Given the description of an element on the screen output the (x, y) to click on. 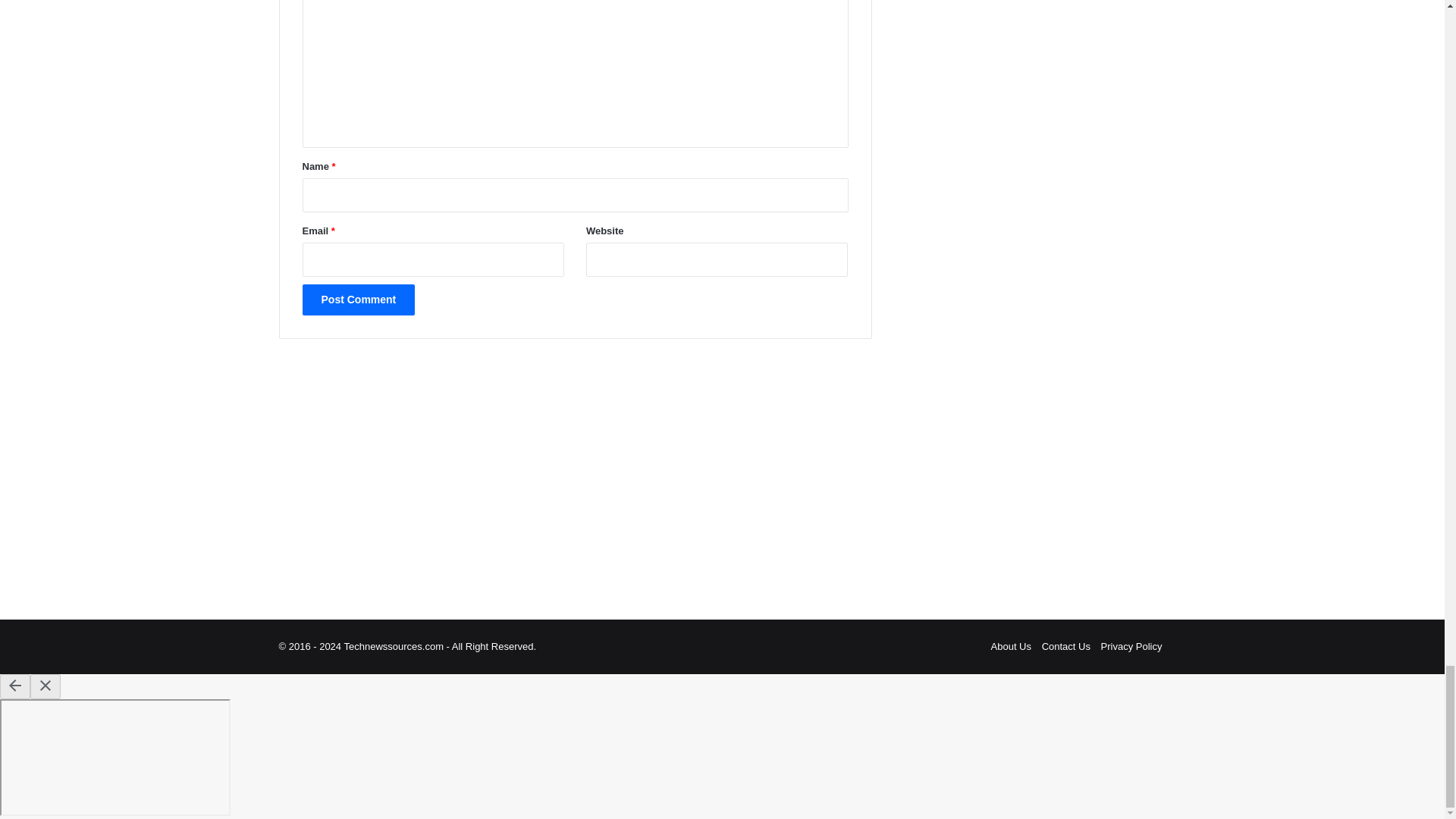
Post Comment (357, 299)
